Given the description of an element on the screen output the (x, y) to click on. 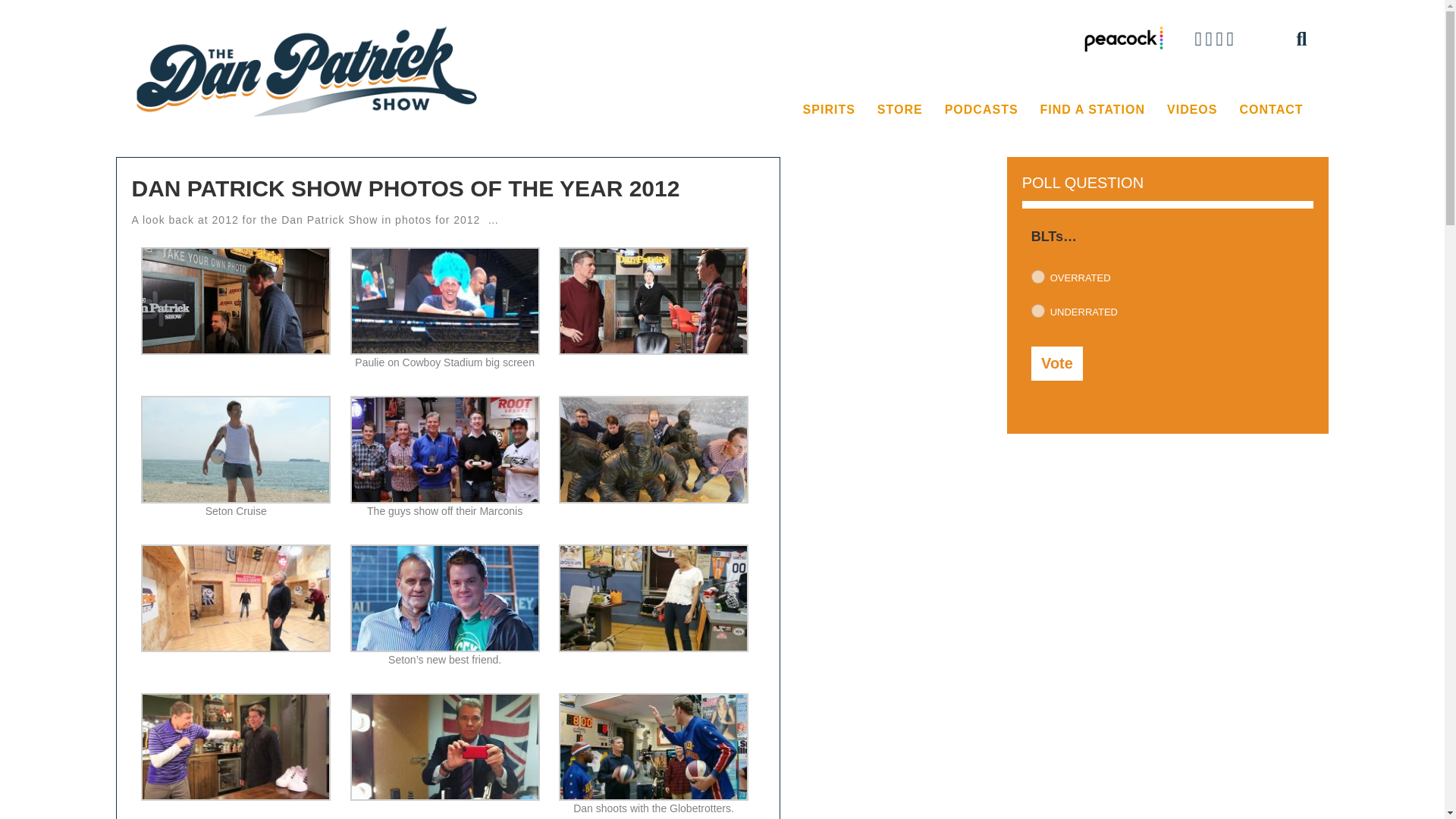
63177634 (1037, 310)
63177633 (1037, 276)
SPIRITS (829, 109)
FIND A STATION (1092, 109)
logo (309, 70)
CONTACT (1270, 109)
STORE (899, 109)
VIDEOS (1191, 109)
PODCASTS (981, 109)
